Given the description of an element on the screen output the (x, y) to click on. 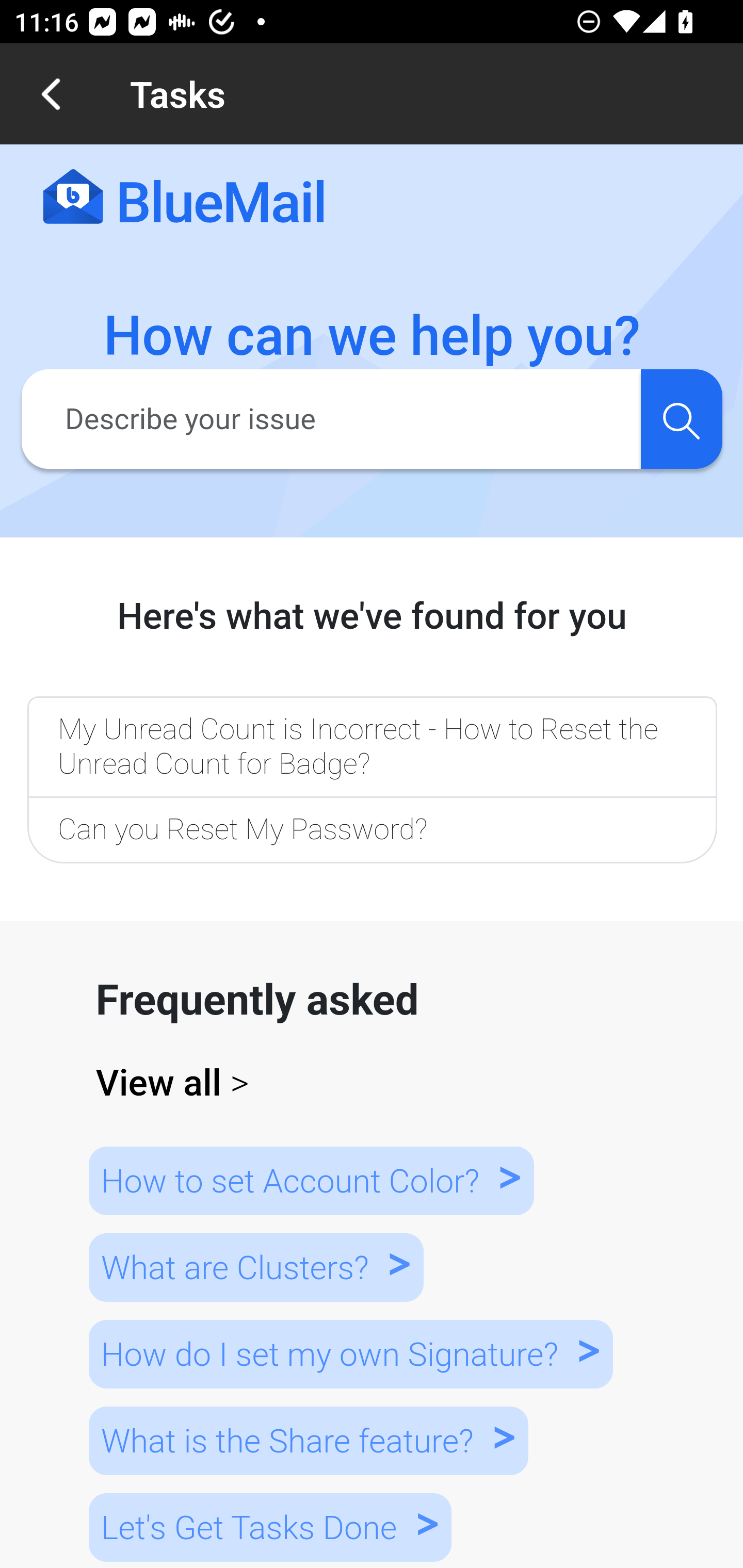
Navigate up (50, 93)
BlueMail Logo (184, 197)
How can we help you? (372, 336)
search (680, 418)
Can you Reset My Password? (371, 830)
View all> (372, 1083)
How to set Account Color?> (310, 1180)
What are Clusters?> (255, 1267)
How do I set my own Signature?> (349, 1353)
What is the Share feature?> (307, 1440)
Let's Get Tasks Done> (269, 1527)
